Given the description of an element on the screen output the (x, y) to click on. 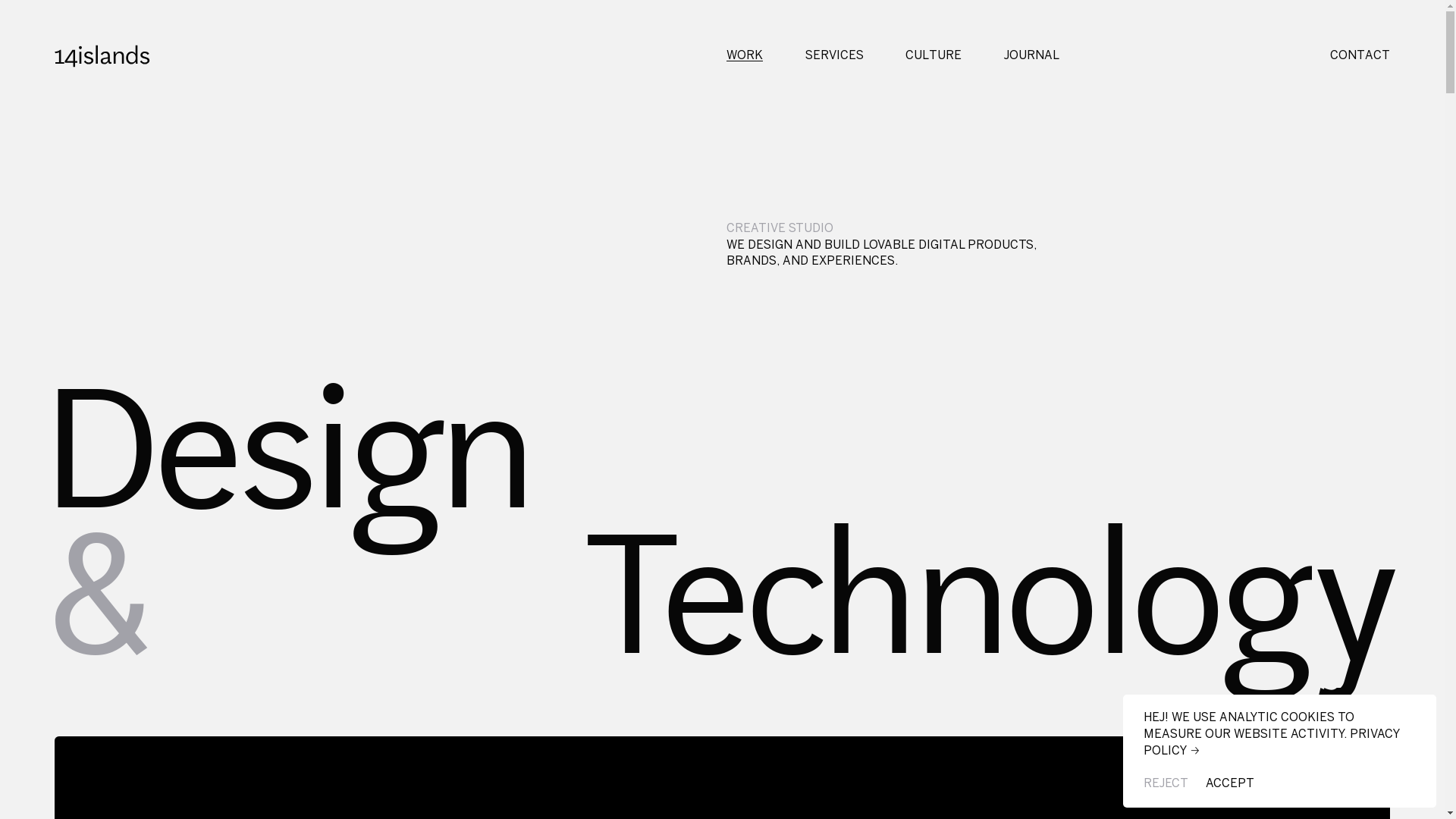
PRIVACY POLICY Element type: text (1271, 742)
CULTURE Element type: text (933, 55)
CONTACT Element type: text (1360, 55)
SERVICES Element type: text (834, 55)
ACCEPT Element type: text (1229, 783)
REJECT Element type: text (1165, 783)
JOURNAL Element type: text (1031, 55)
WORK Element type: text (744, 55)
